Given the description of an element on the screen output the (x, y) to click on. 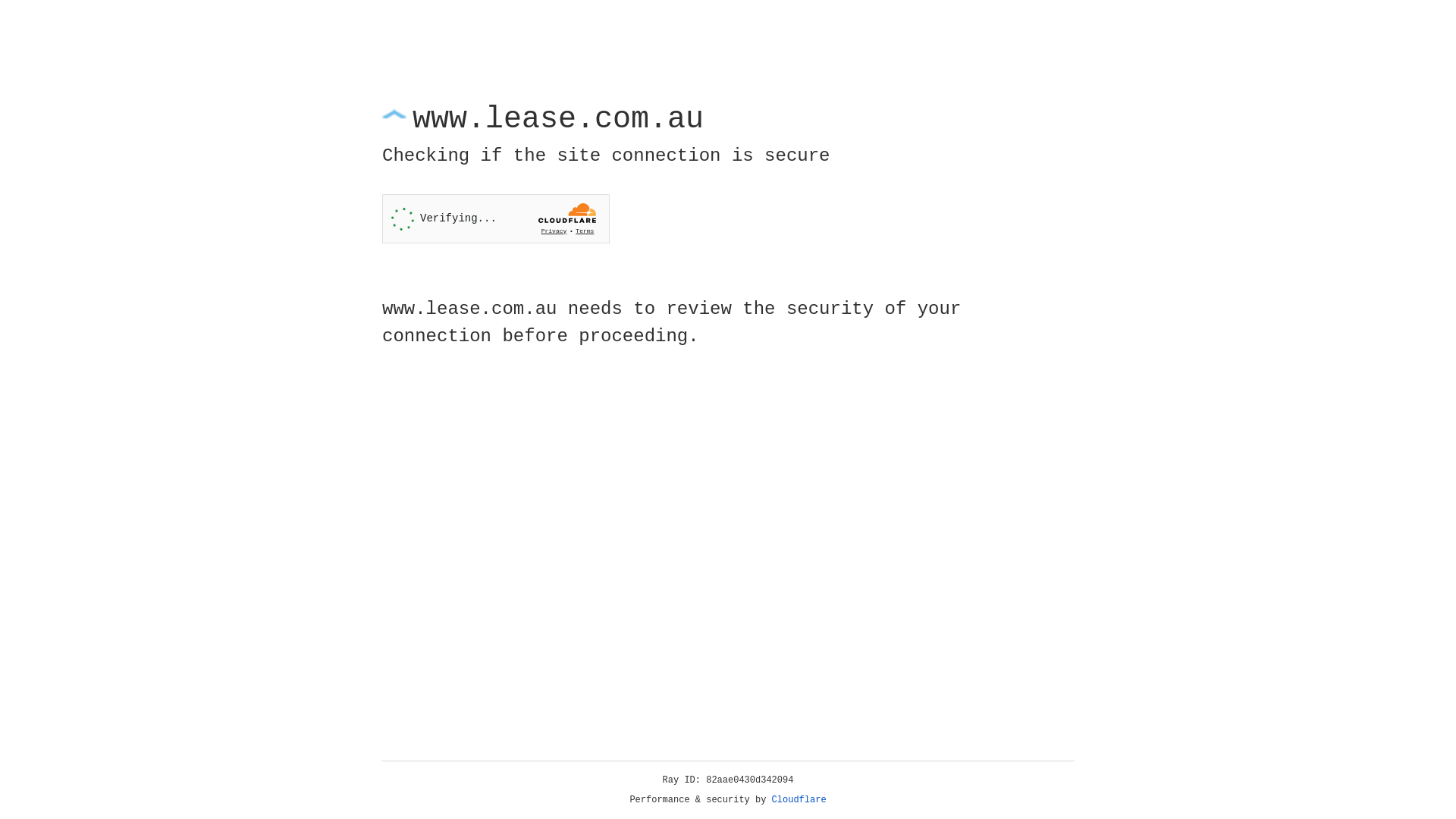
Cloudflare Element type: text (798, 799)
Widget containing a Cloudflare security challenge Element type: hover (495, 218)
